Given the description of an element on the screen output the (x, y) to click on. 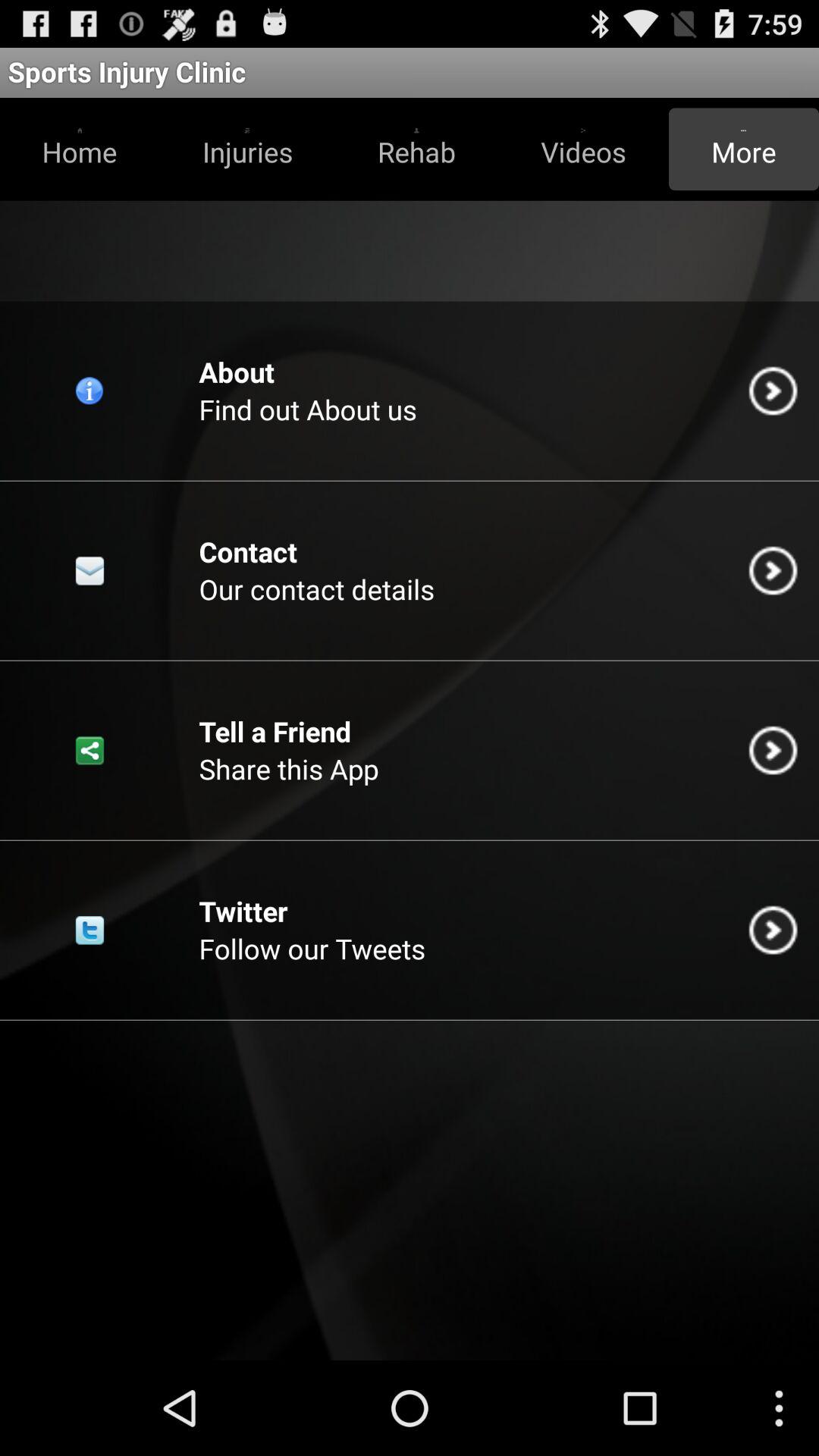
select the item next to the injuries icon (416, 149)
